Given the description of an element on the screen output the (x, y) to click on. 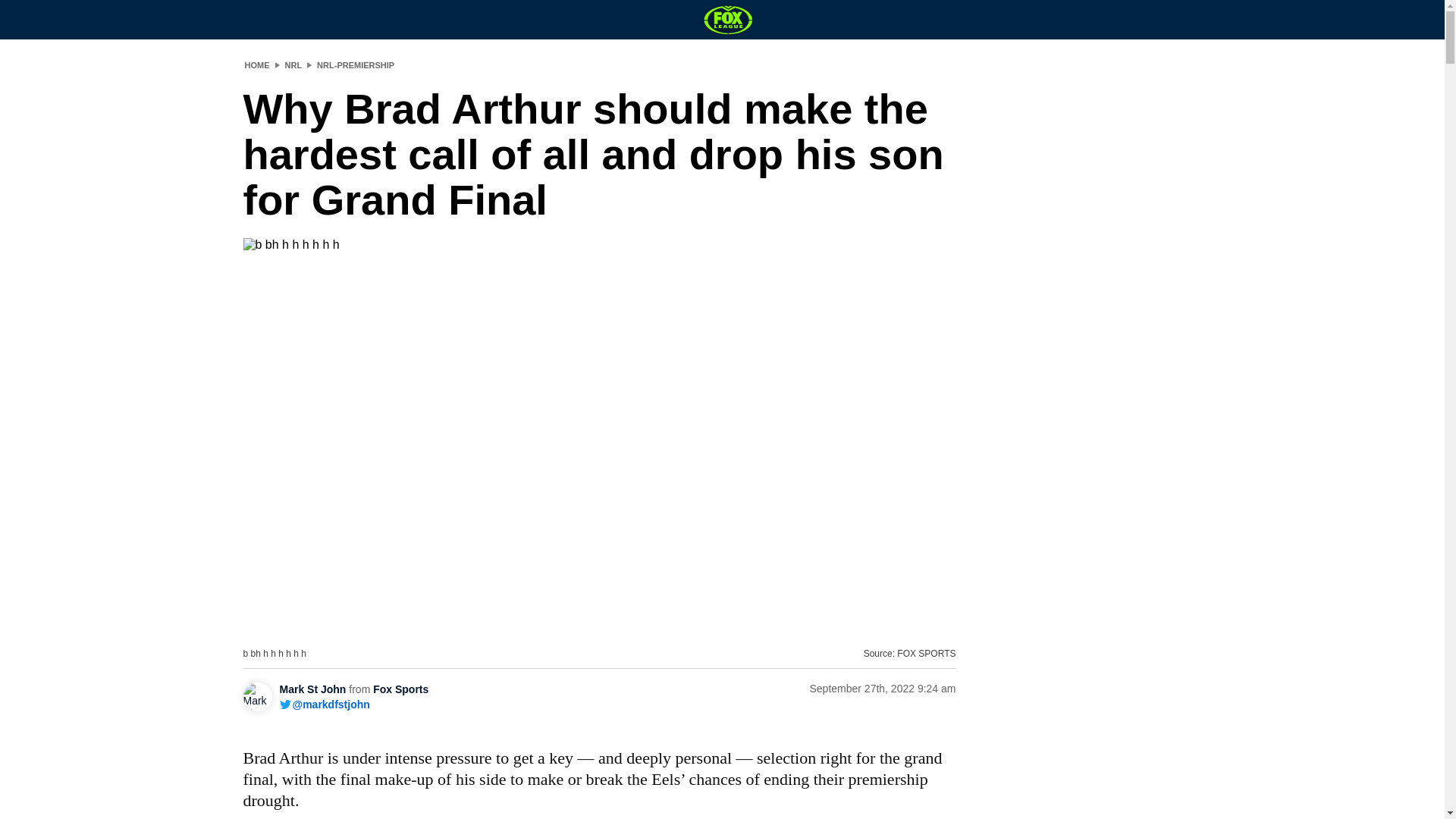
NRL-PREMIERSHIP (355, 64)
NRL (293, 64)
HOME (256, 64)
